Given the description of an element on the screen output the (x, y) to click on. 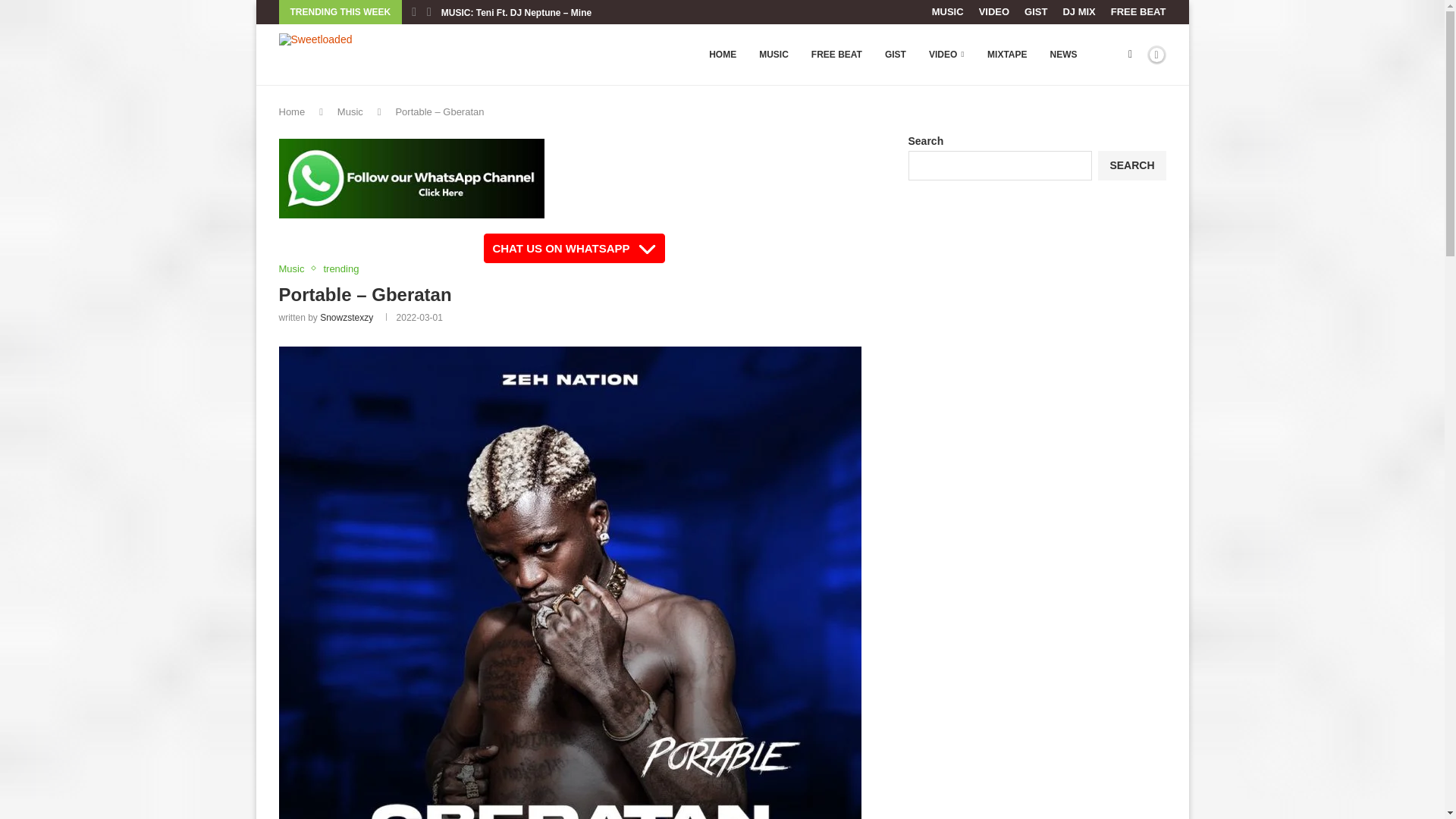
CHAT US ON WHATSAPP (573, 247)
trending (340, 268)
GIST (1035, 12)
VIDEO (993, 12)
Home (292, 111)
Music (296, 268)
DJ MIX (1078, 12)
Music (349, 111)
MUSIC (947, 12)
MIXTAPE (1006, 54)
Snowzstexzy (346, 317)
FREE BEAT (1138, 12)
FREE BEAT (836, 54)
VIDEO (946, 54)
